Given the description of an element on the screen output the (x, y) to click on. 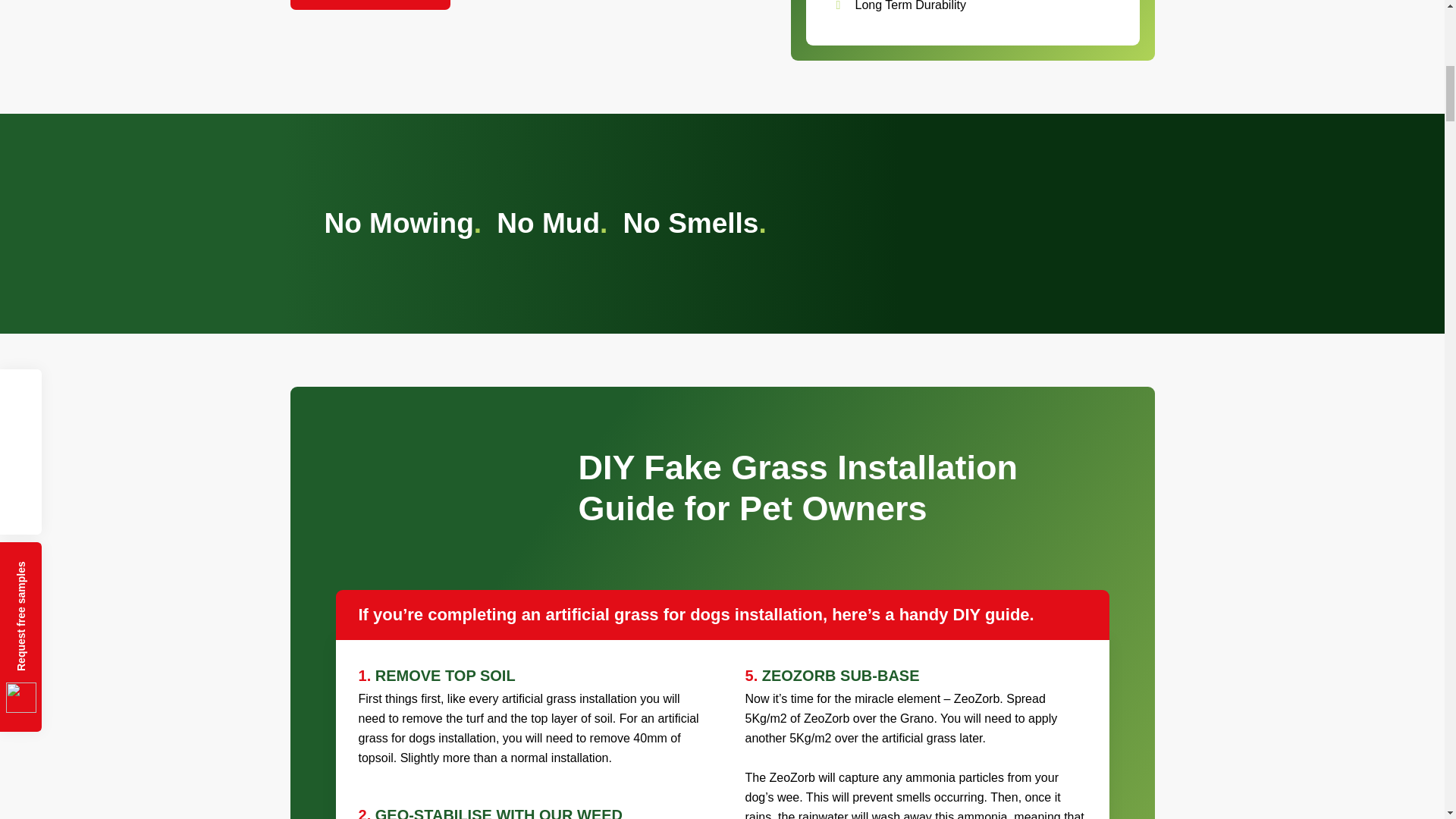
Shop Dog friendly grass (369, 4)
remove the turf (442, 718)
